Given the description of an element on the screen output the (x, y) to click on. 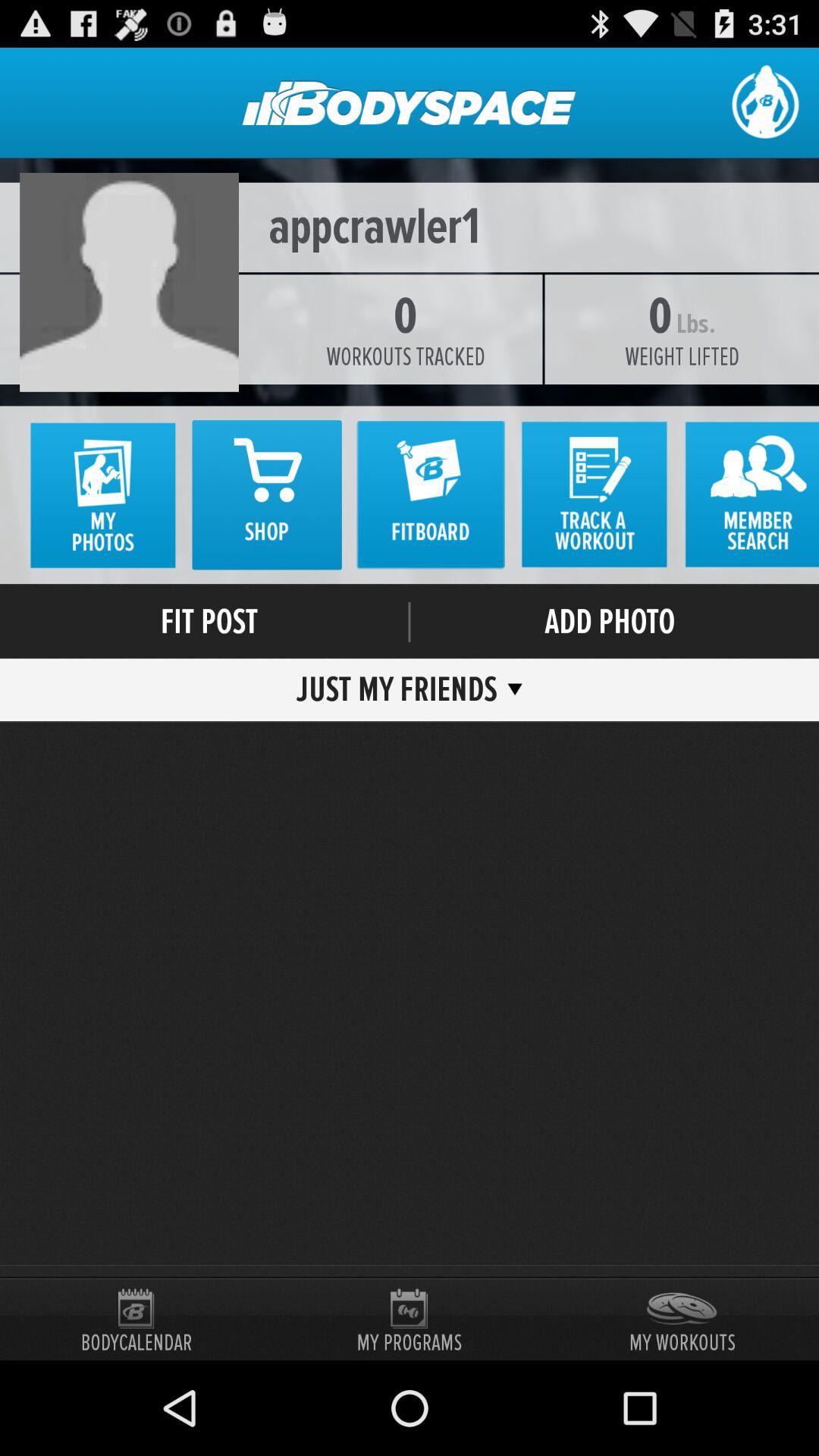
open item to the left of the weight lifted icon (405, 356)
